Given the description of an element on the screen output the (x, y) to click on. 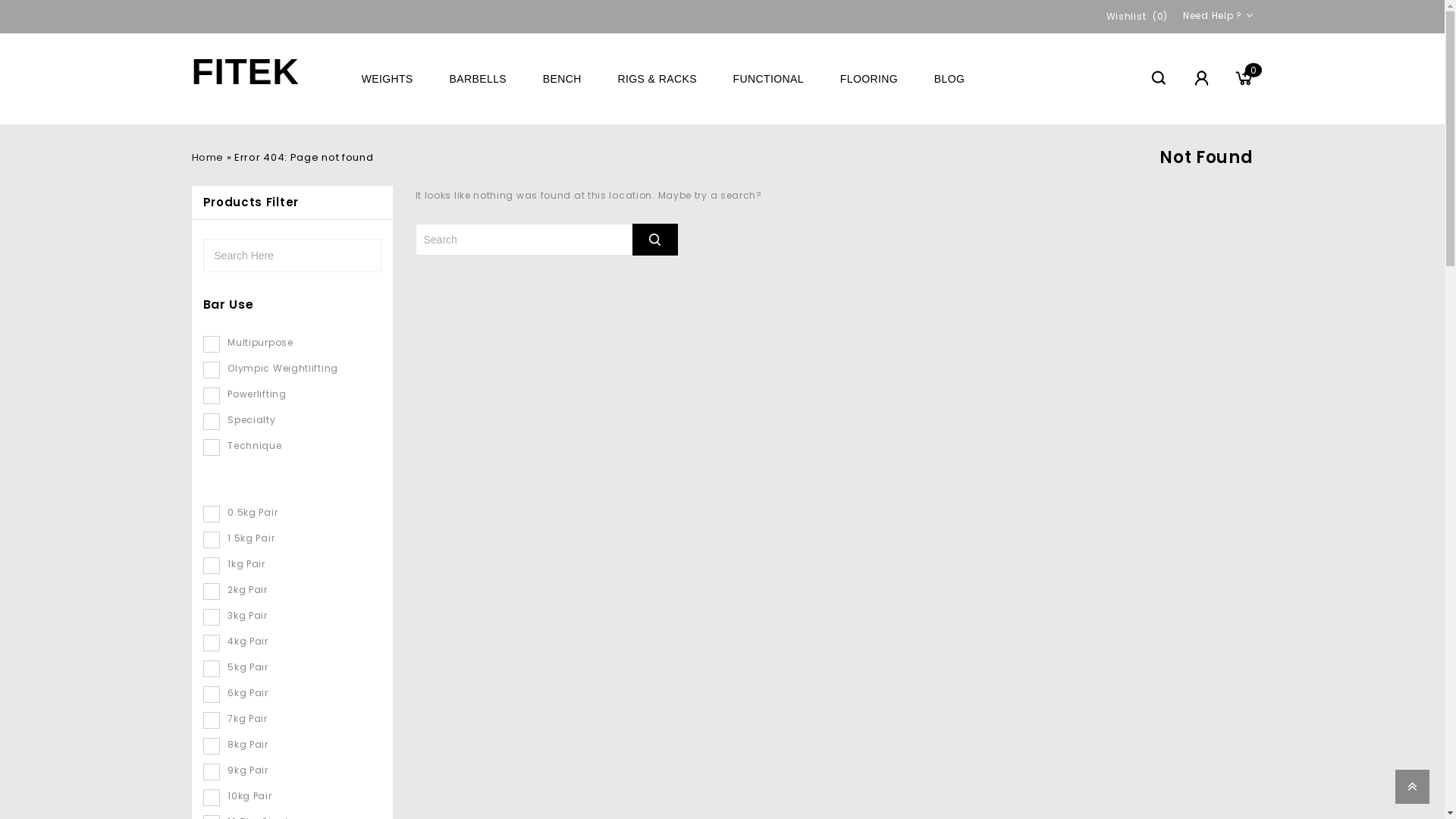
Go Element type: text (654, 239)
RIGS & RACKS Element type: text (656, 78)
0 Element type: text (1243, 78)
Wishlist Element type: text (1126, 15)
FLOORING Element type: text (868, 78)
BENCH Element type: text (562, 78)
BARBELLS Element type: text (477, 78)
Top Element type: text (1412, 786)
Home Element type: text (206, 157)
WEIGHTS Element type: text (387, 78)
FITEK Element type: text (244, 72)
BLOG Element type: text (949, 78)
FUNCTIONAL Element type: text (768, 78)
